Given the description of an element on the screen output the (x, y) to click on. 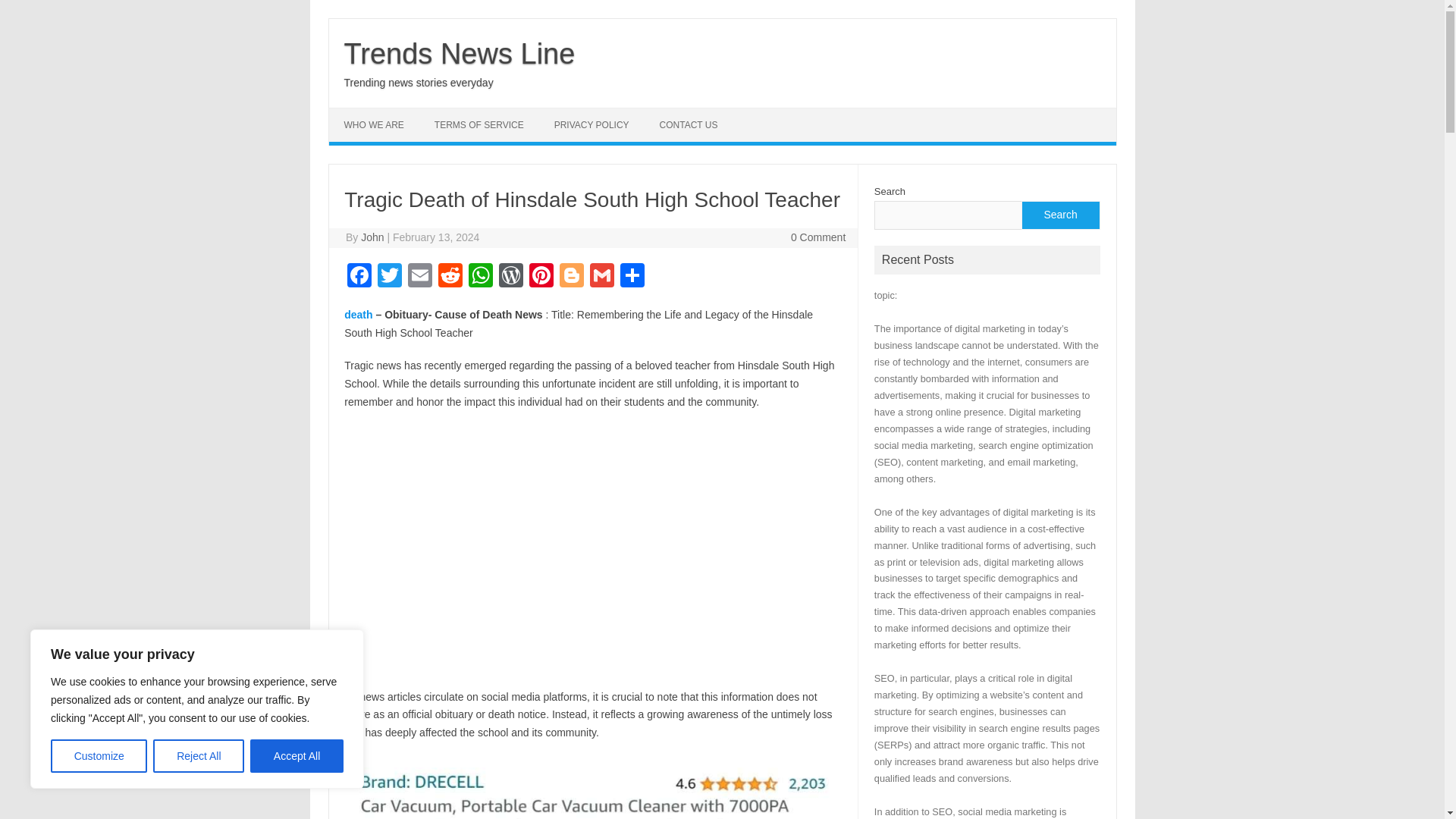
Accept All (296, 756)
TERMS OF SERVICE (478, 124)
Twitter (389, 276)
death (357, 314)
WordPress (510, 276)
Trends News Line (459, 53)
Reject All (198, 756)
Email (419, 276)
WordPress (510, 276)
